Given the description of an element on the screen output the (x, y) to click on. 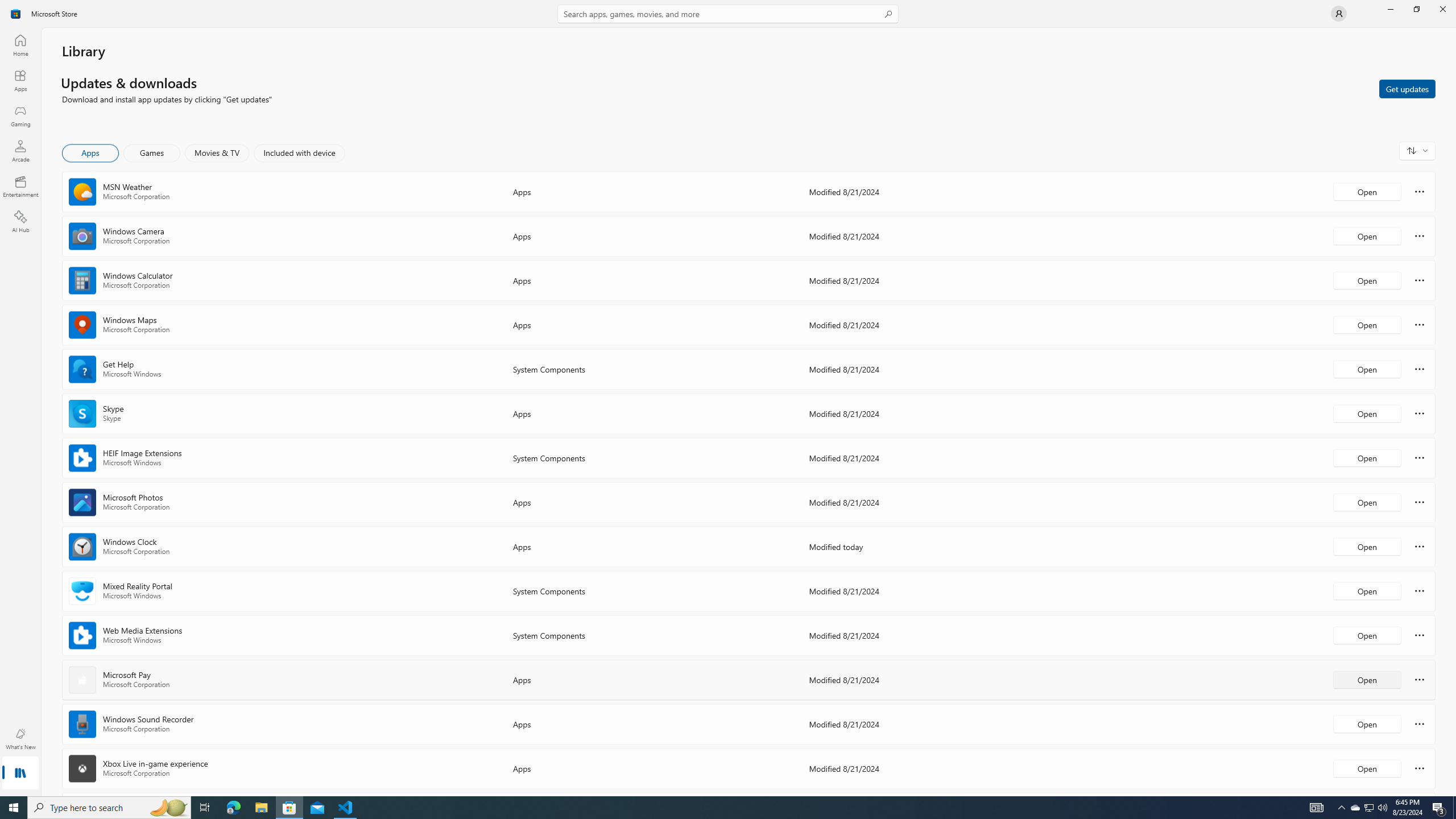
Search (727, 13)
Open (1366, 768)
What's New (20, 738)
Gaming (20, 115)
Close Microsoft Store (1442, 9)
Get updates (1406, 88)
Arcade (20, 150)
Included with device (299, 153)
